Given the description of an element on the screen output the (x, y) to click on. 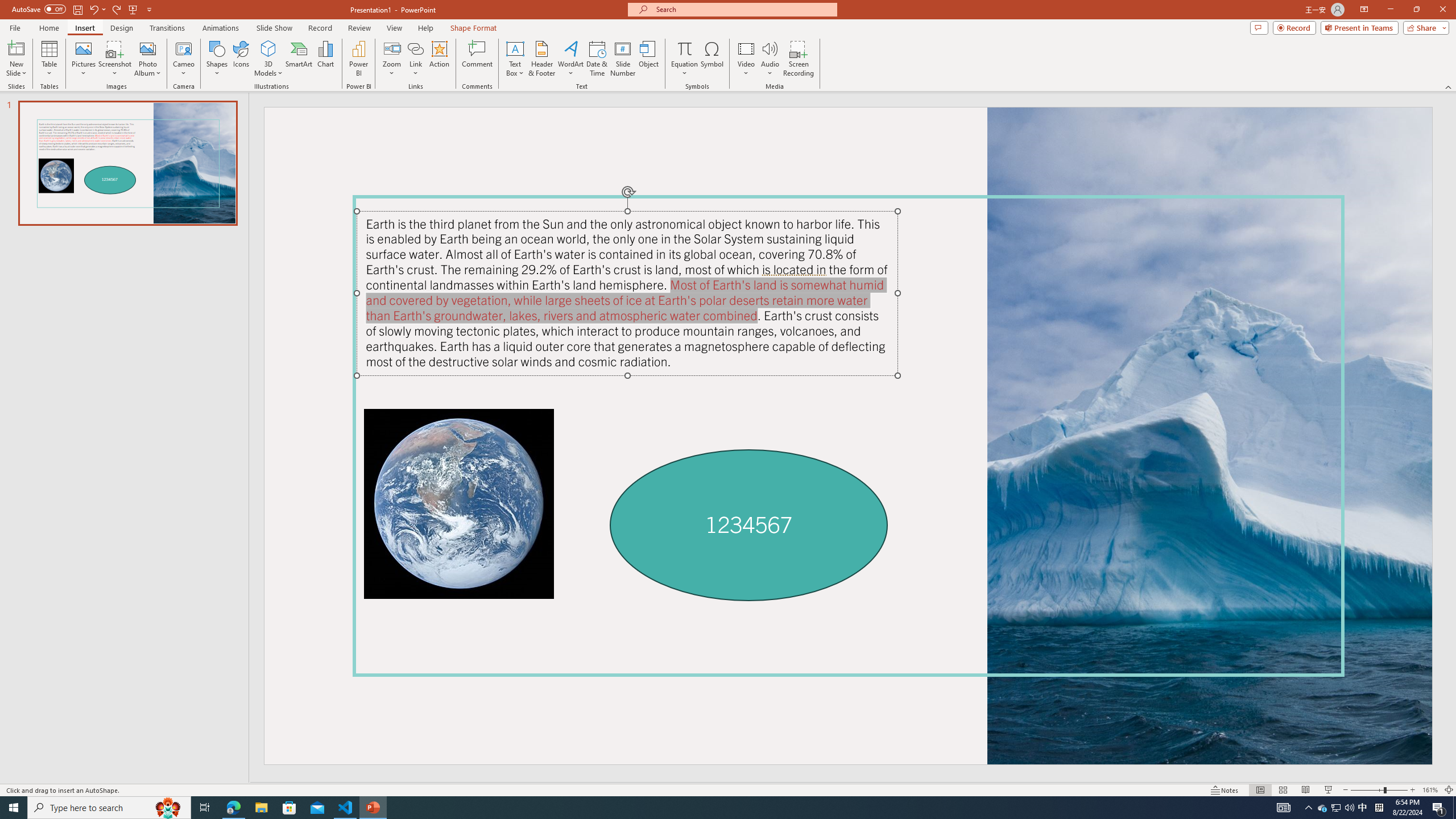
Comment (476, 58)
Icons (240, 58)
Zoom 161% (1430, 790)
Link (415, 58)
3D Models (268, 58)
Screenshot (114, 58)
